Given the description of an element on the screen output the (x, y) to click on. 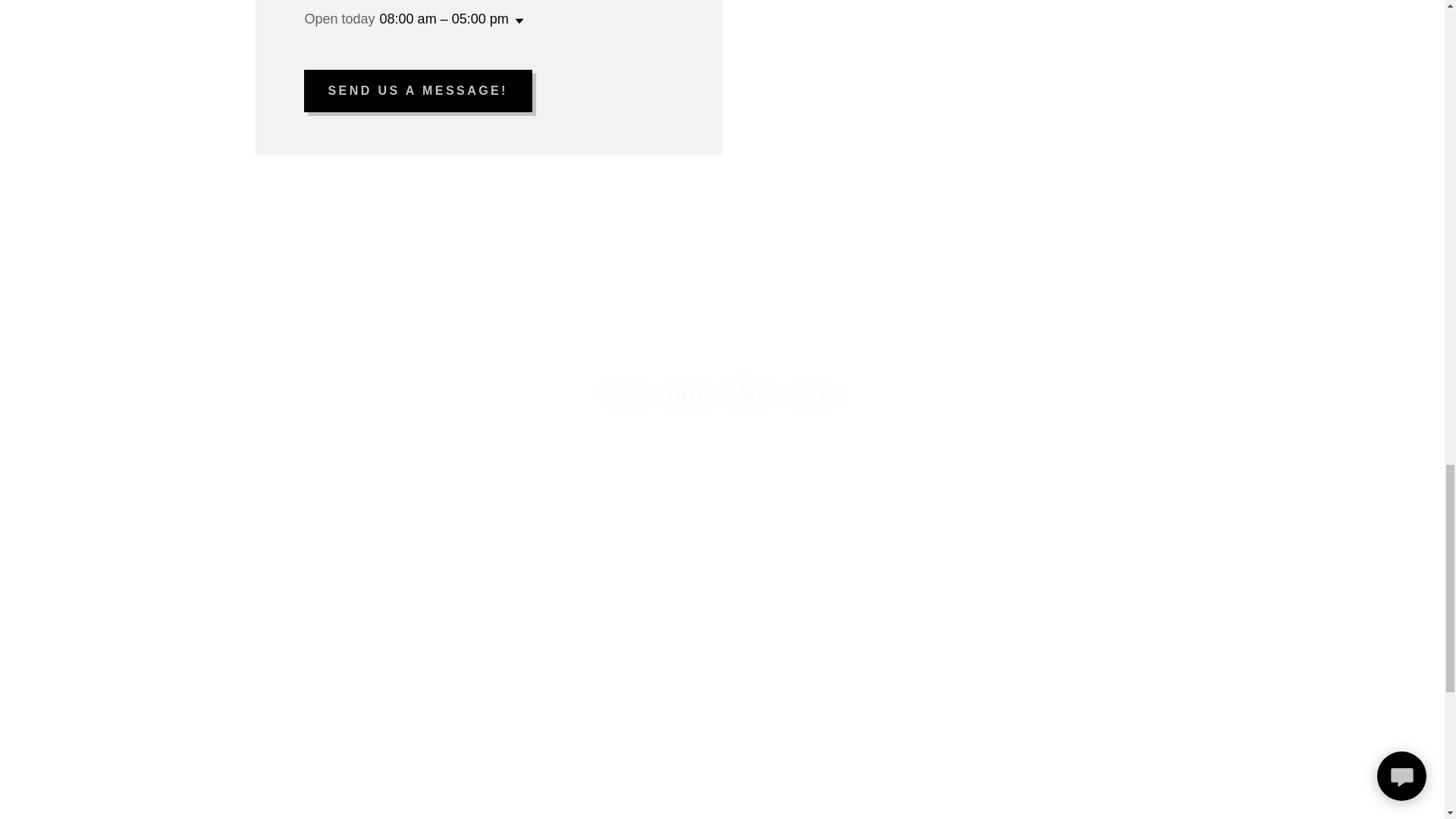
SEND US A MESSAGE! (416, 90)
